Given the description of an element on the screen output the (x, y) to click on. 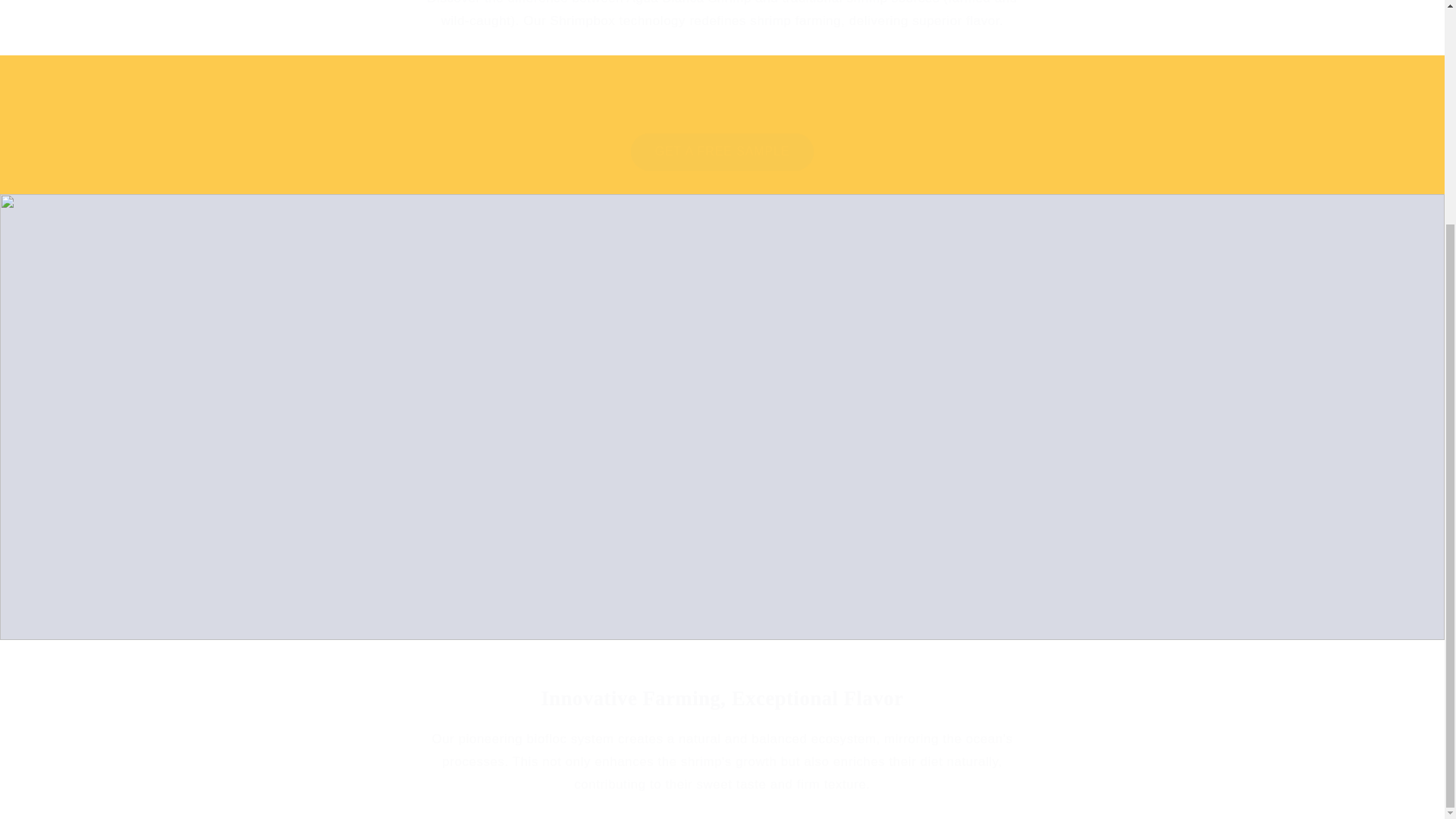
GET A FREE SAMPLE (722, 151)
Innovative Farming, Exceptional Flavor (722, 698)
